Given the description of an element on the screen output the (x, y) to click on. 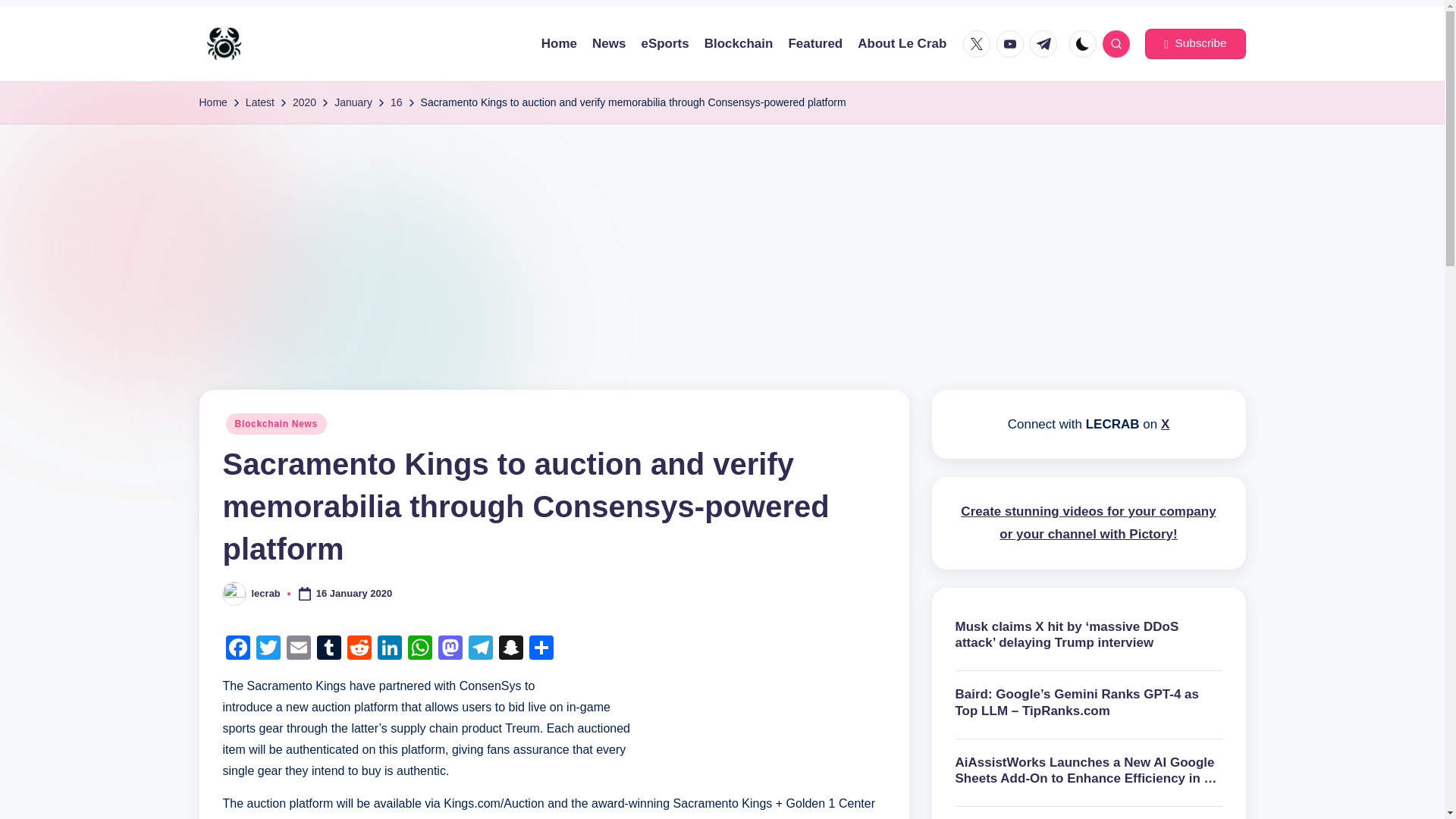
January (353, 102)
Reddit (358, 649)
Email (298, 649)
Blockchain (738, 43)
WhatsApp (419, 649)
Mastodon (450, 649)
Home (212, 102)
About Le Crab (901, 43)
Twitter (976, 43)
lecrab (266, 593)
